Given the description of an element on the screen output the (x, y) to click on. 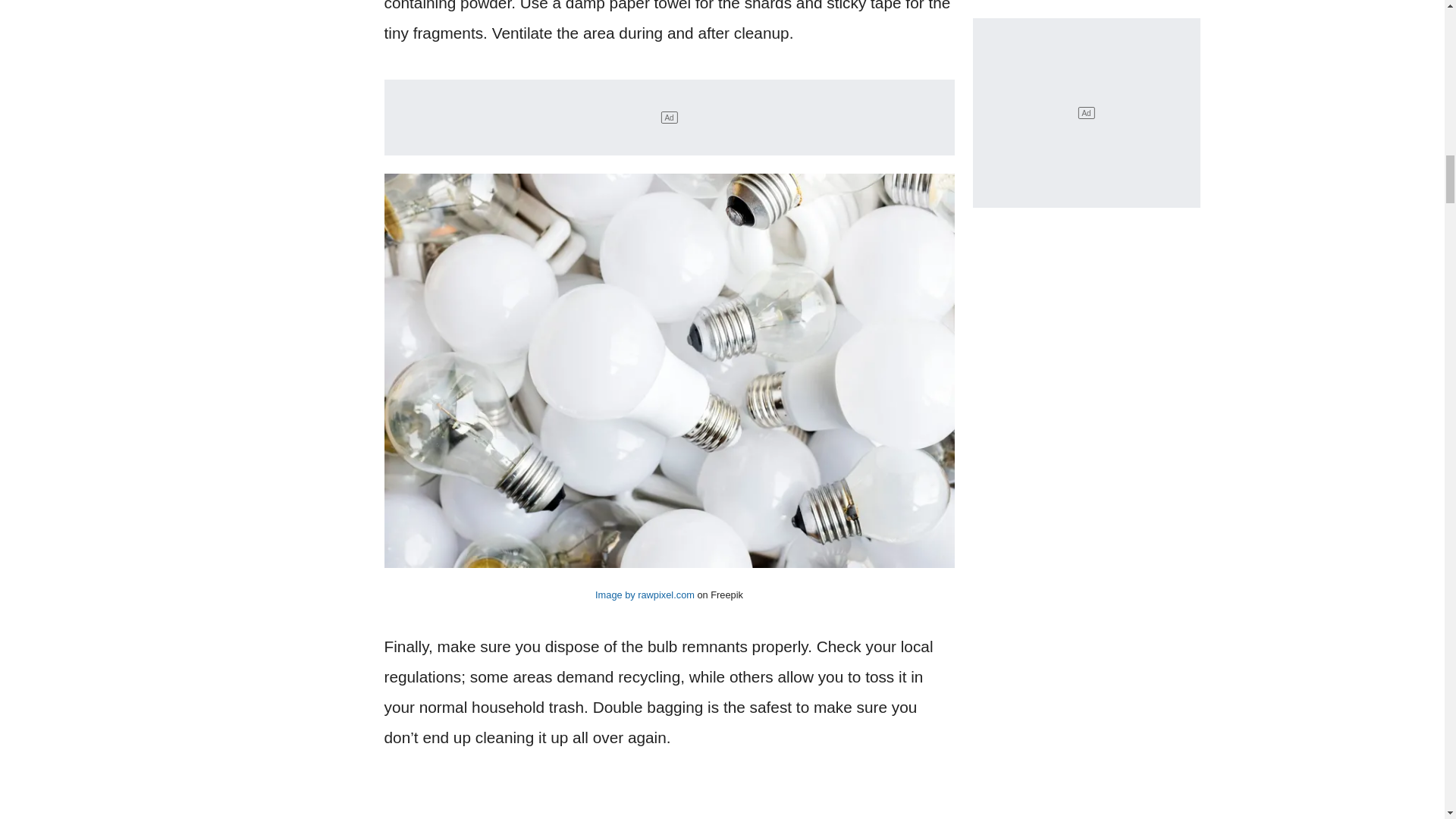
Image by rawpixel.com (644, 594)
